Given the description of an element on the screen output the (x, y) to click on. 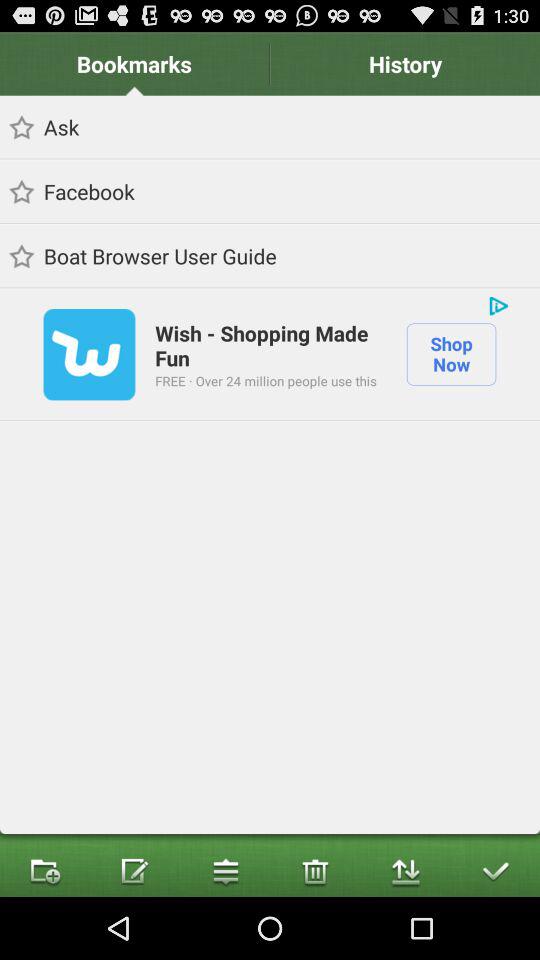
turn on the item on the right (451, 354)
